Given the description of an element on the screen output the (x, y) to click on. 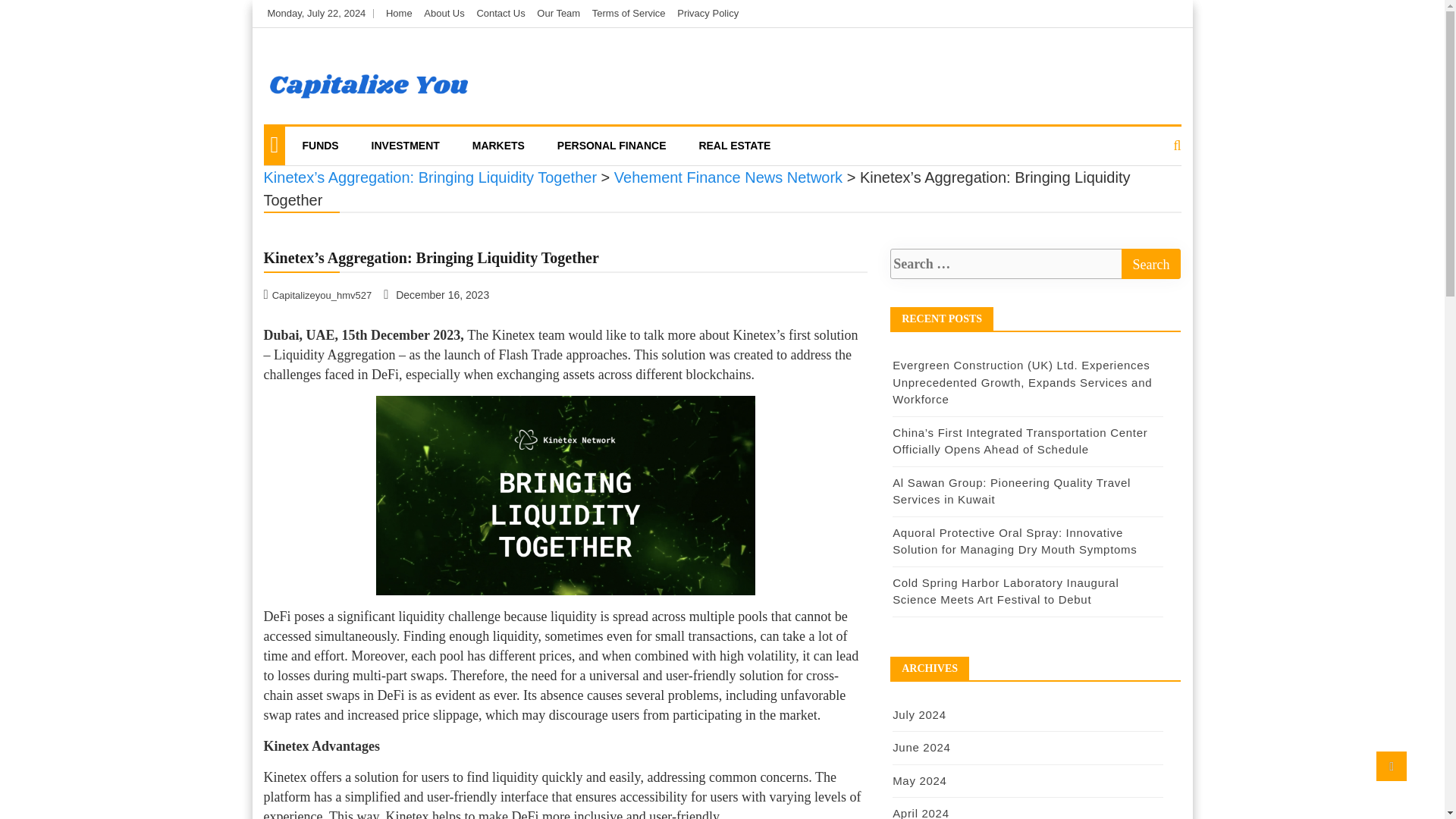
Search (1150, 263)
December 16, 2023 (437, 294)
About Us (443, 12)
FUNDS (319, 145)
MARKETS (498, 145)
INVESTMENT (405, 145)
July 2024 (919, 714)
Al Sawan Group: Pioneering Quality Travel Services in Kuwait (1011, 490)
PERSONAL FINANCE (612, 145)
REAL ESTATE (734, 145)
Home (398, 12)
Our Team (558, 12)
Contact Us (500, 12)
